Given the description of an element on the screen output the (x, y) to click on. 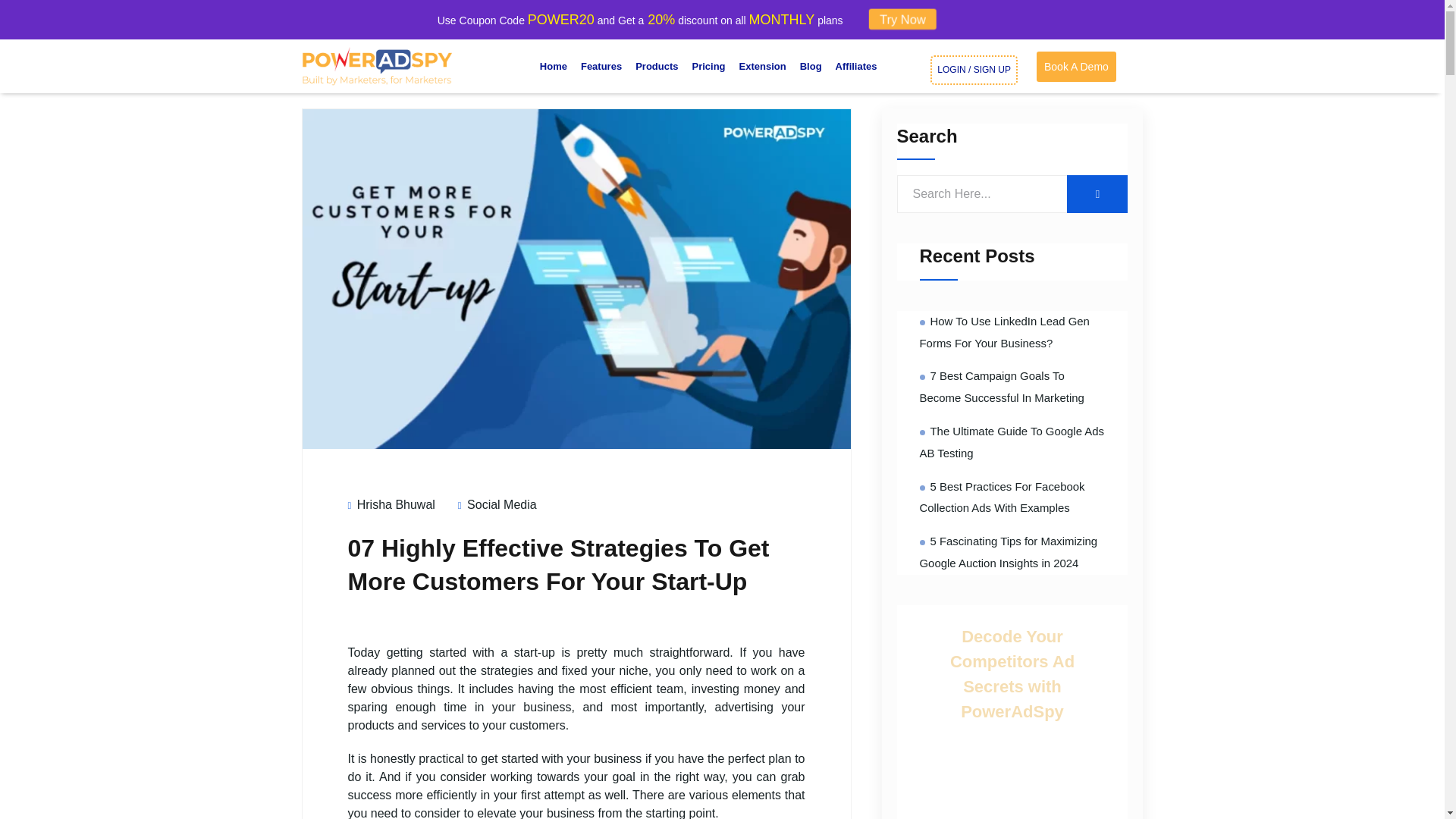
Blog (810, 66)
Products (656, 66)
Book A Demo (1076, 66)
Features (600, 66)
Pricing (708, 66)
Extension (762, 66)
Affiliates (855, 66)
Try Now (905, 18)
Home (552, 66)
